Given the description of an element on the screen output the (x, y) to click on. 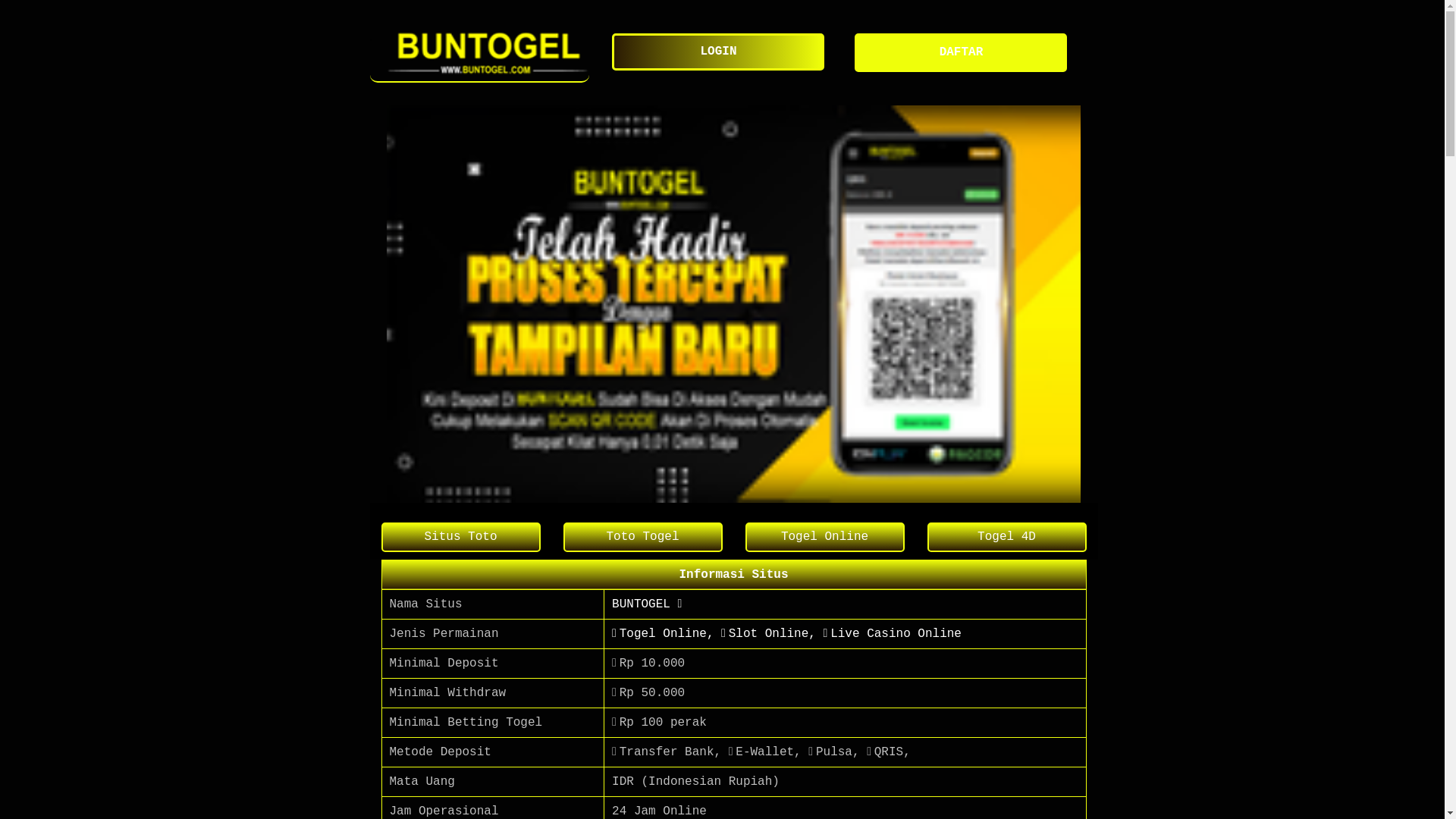
DAFTAR Element type: text (964, 52)
LOGIN Element type: text (721, 51)
Previous item in carousel (1 of 1) Element type: hover (392, 303)
Togel 4D Element type: text (1005, 537)
Situs Toto Element type: text (459, 537)
Next item in carousel (1 of 1) Element type: hover (1073, 303)
Togel Online Element type: text (823, 537)
BUNTOGEL Element type: hover (479, 52)
Toto Togel Element type: text (641, 537)
